Given the description of an element on the screen output the (x, y) to click on. 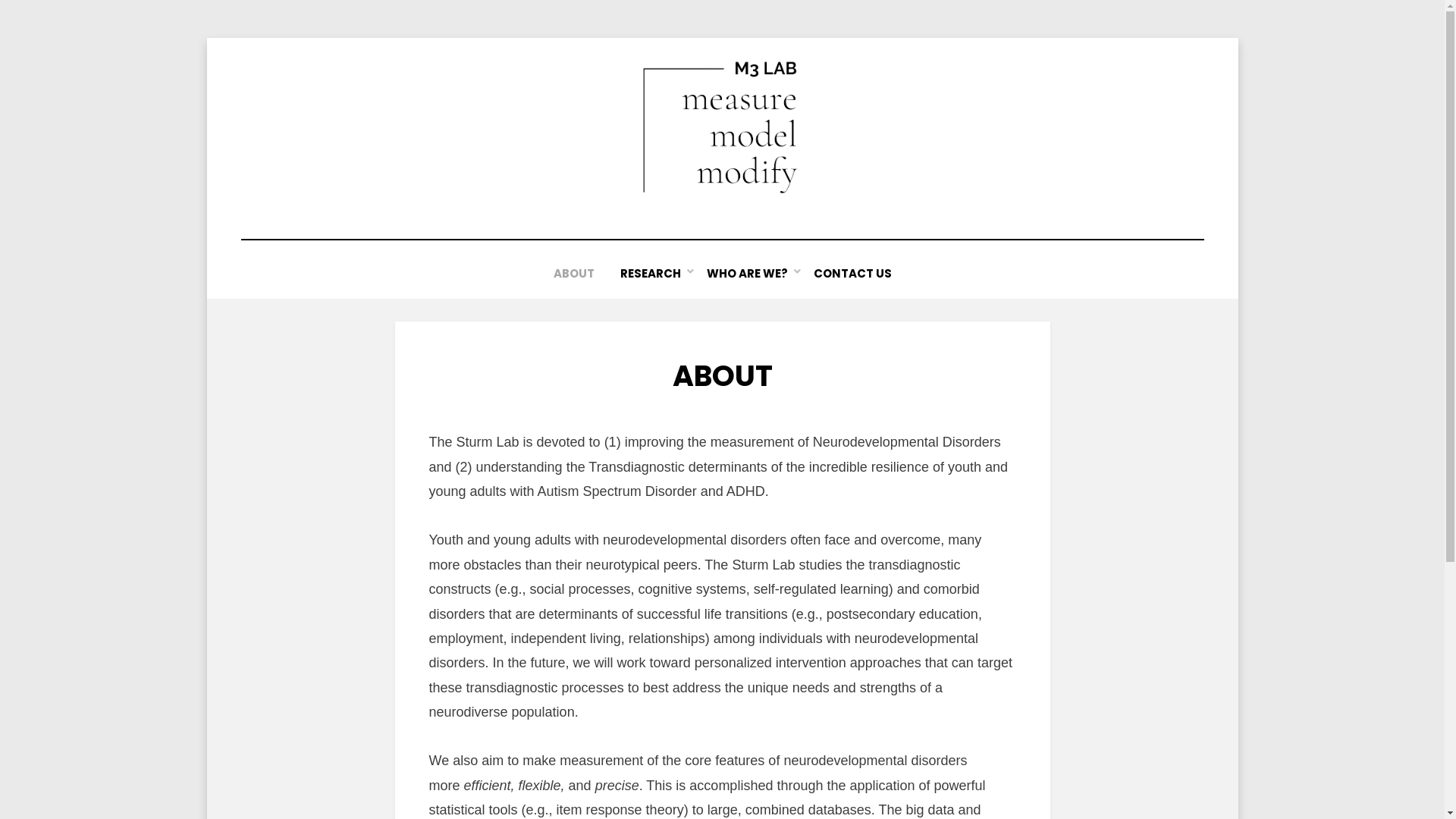
RESEARCH Element type: text (649, 273)
CONTACT US Element type: text (852, 273)
Skip to content Element type: text (206, 37)
ABOUT Element type: text (572, 273)
WHO ARE WE? Element type: text (746, 273)
